Given the description of an element on the screen output the (x, y) to click on. 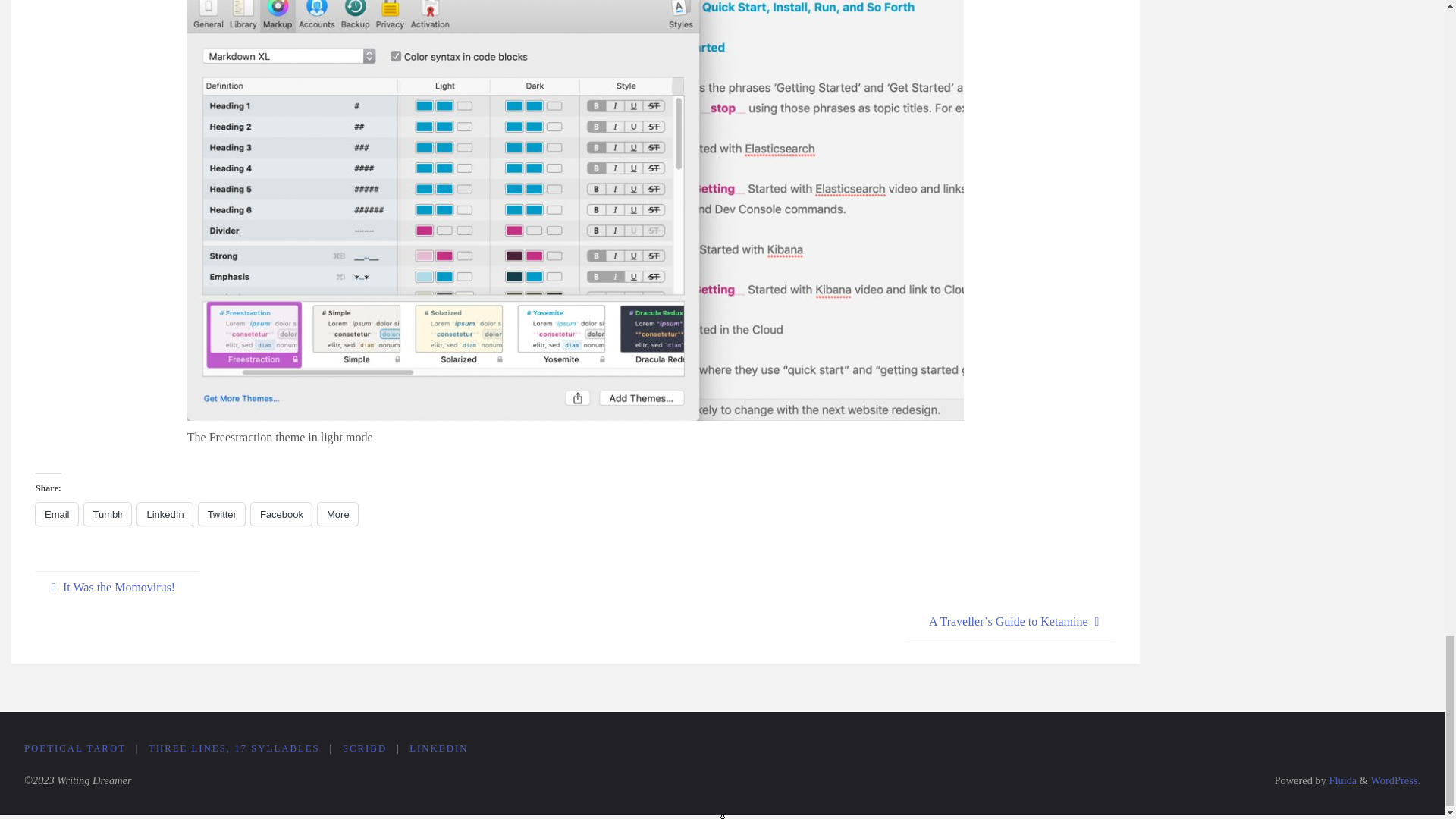
Click to share on Tumblr (108, 513)
Twitter (221, 513)
Tumblr (108, 513)
Click to share on Twitter (221, 513)
Click to share on Facebook (280, 513)
More (337, 513)
LinkedIn (164, 513)
Click to share on LinkedIn (164, 513)
Click to email a link to a friend (56, 513)
Facebook (280, 513)
